Given the description of an element on the screen output the (x, y) to click on. 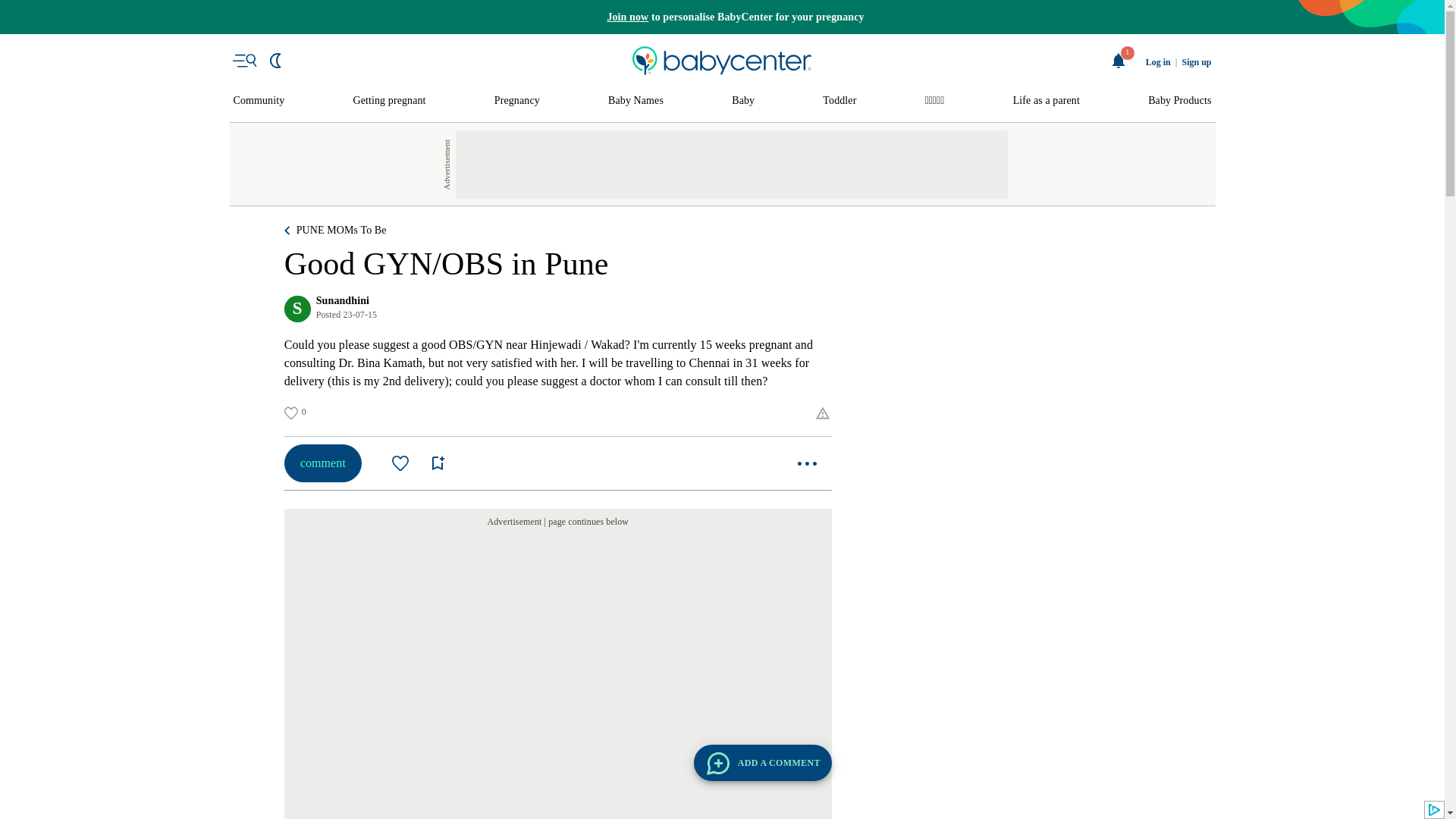
Baby Products (1179, 101)
Baby (743, 101)
1 (1118, 60)
Pregnancy (517, 101)
Life as a parent (1046, 101)
Community (258, 101)
Log in (1157, 61)
Toddler (839, 101)
Getting pregnant (389, 101)
Baby Names (635, 101)
